Given the description of an element on the screen output the (x, y) to click on. 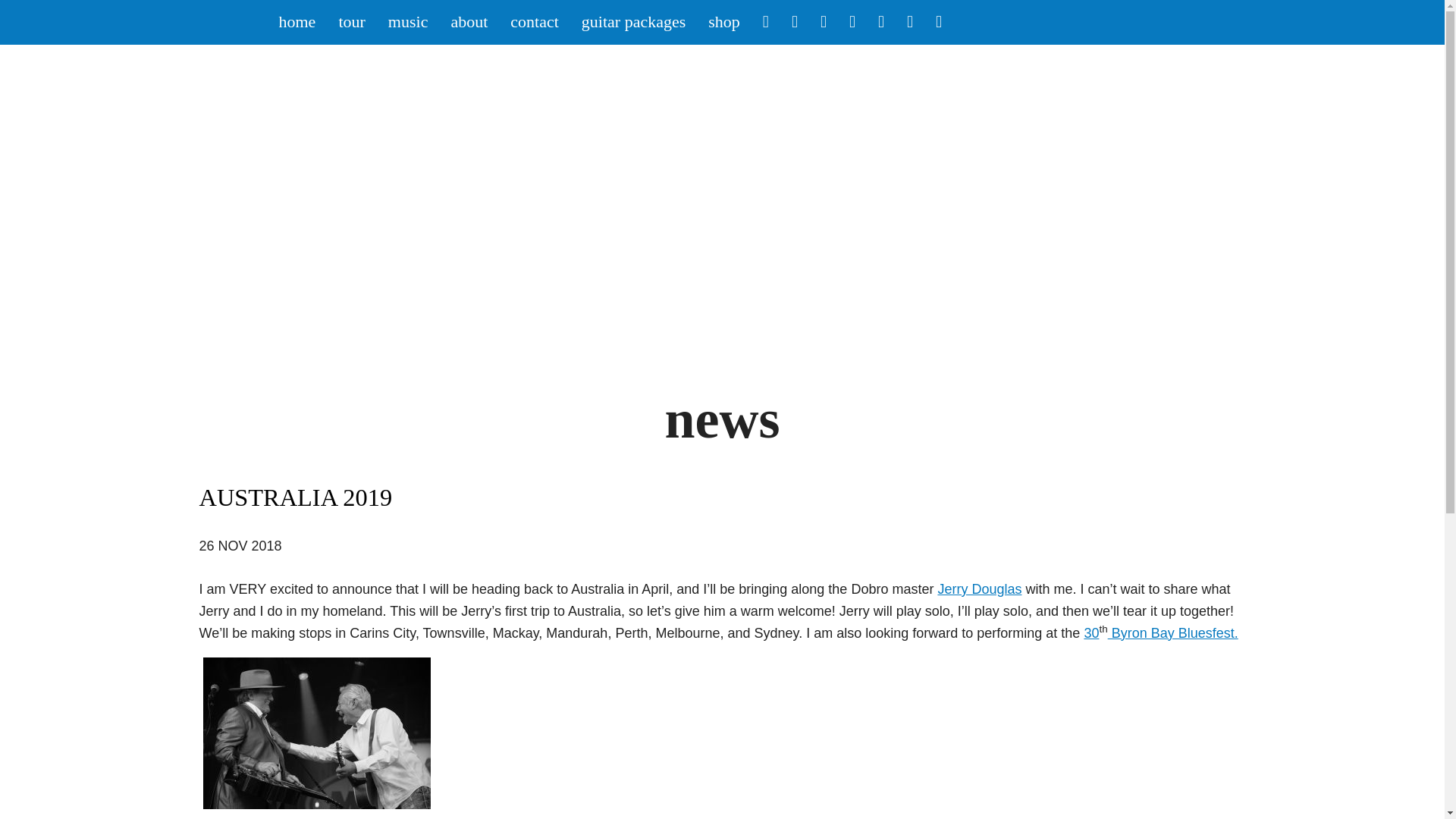
30 (1091, 632)
shop (724, 22)
tour (350, 22)
contact (534, 22)
guitar packages (633, 22)
home (296, 22)
about (469, 22)
Byron Bay Bluesfest. (1173, 632)
Jerry Douglas (979, 589)
music (408, 22)
